Given the description of an element on the screen output the (x, y) to click on. 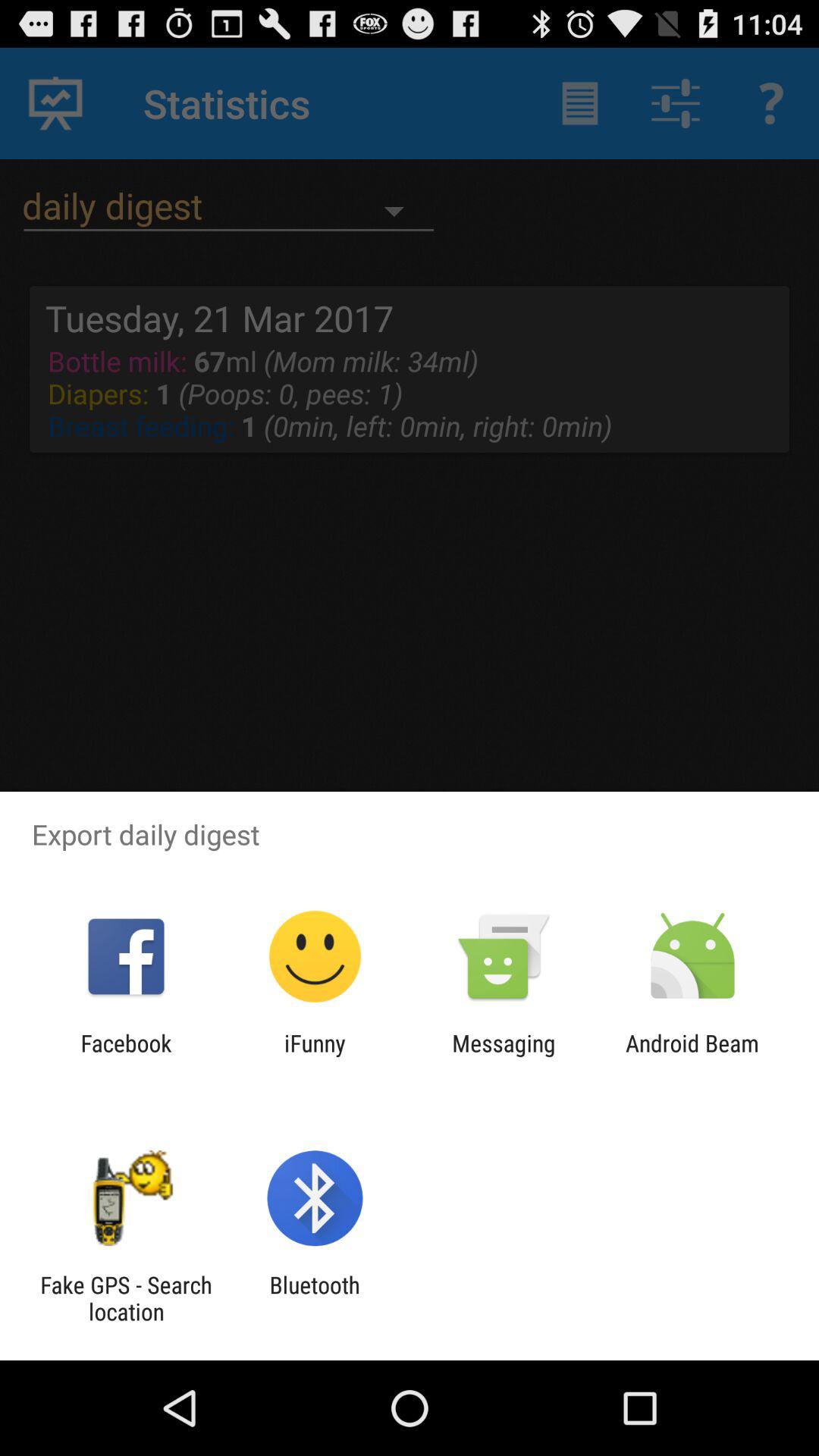
click item next to bluetooth app (125, 1298)
